Given the description of an element on the screen output the (x, y) to click on. 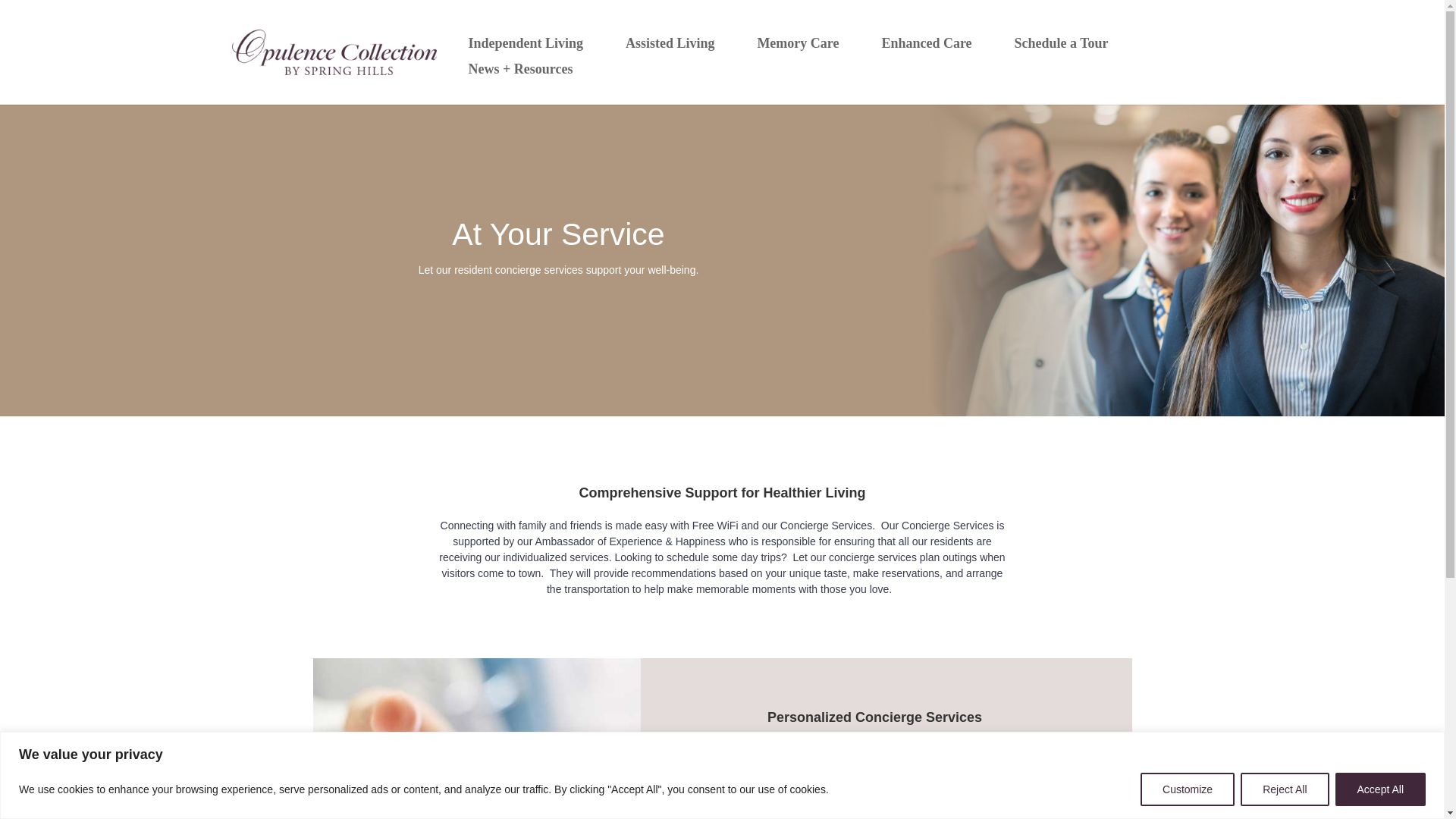
Memory Care (797, 43)
Accept All (1380, 788)
Reject All (1283, 788)
Customize (1187, 788)
Assisted Living (670, 43)
Schedule a Tour (1061, 43)
Independent Living (525, 43)
Enhanced Care (925, 43)
Personalized Concierge Services (476, 738)
